Given the description of an element on the screen output the (x, y) to click on. 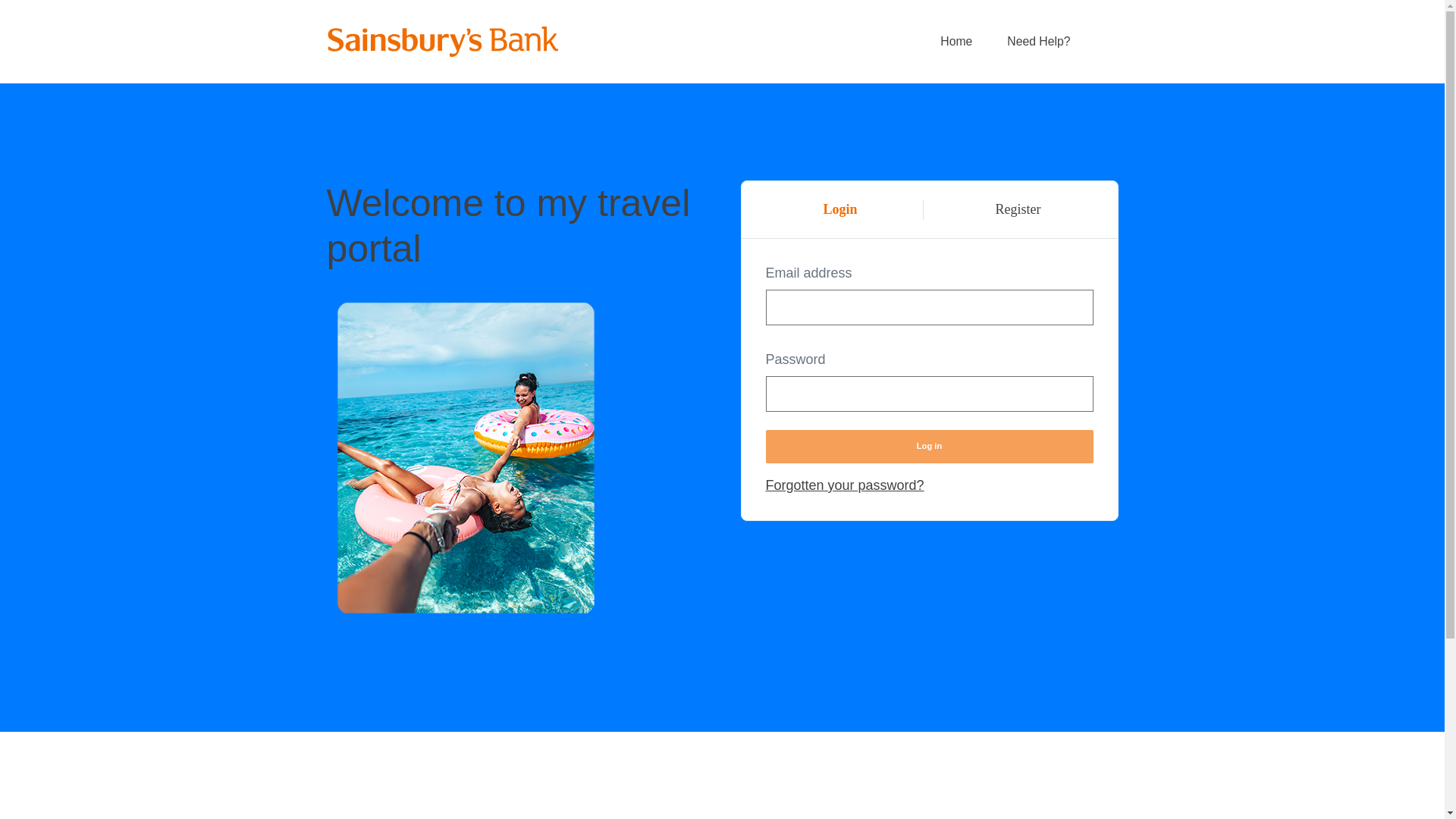
Forgotten your password? (844, 485)
Register (1017, 209)
Log in (929, 446)
Home (956, 41)
Need Help? (1038, 41)
